Given the description of an element on the screen output the (x, y) to click on. 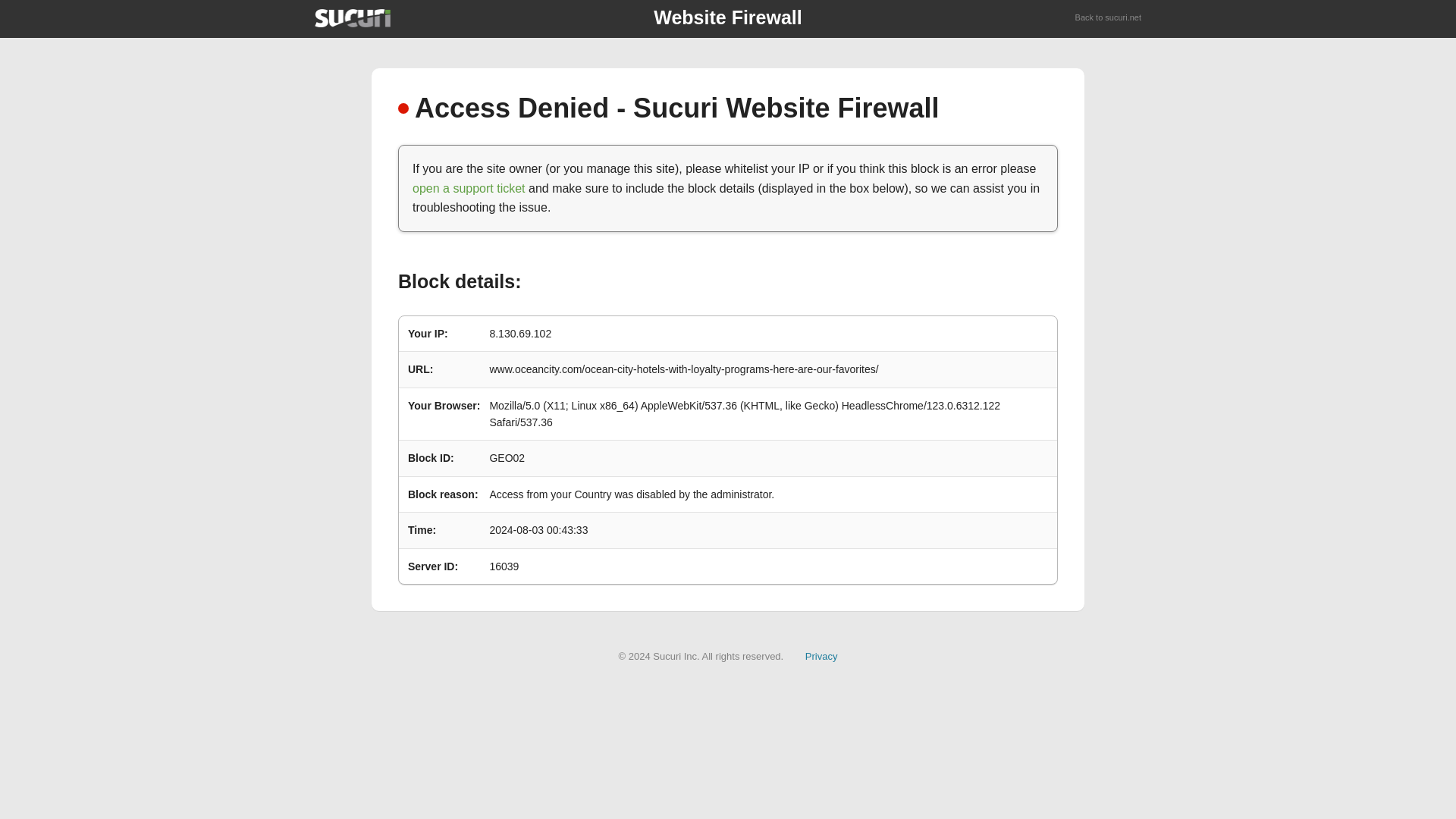
Back to sucuri.net (1108, 18)
open a support ticket (468, 187)
Privacy (821, 655)
